Given the description of an element on the screen output the (x, y) to click on. 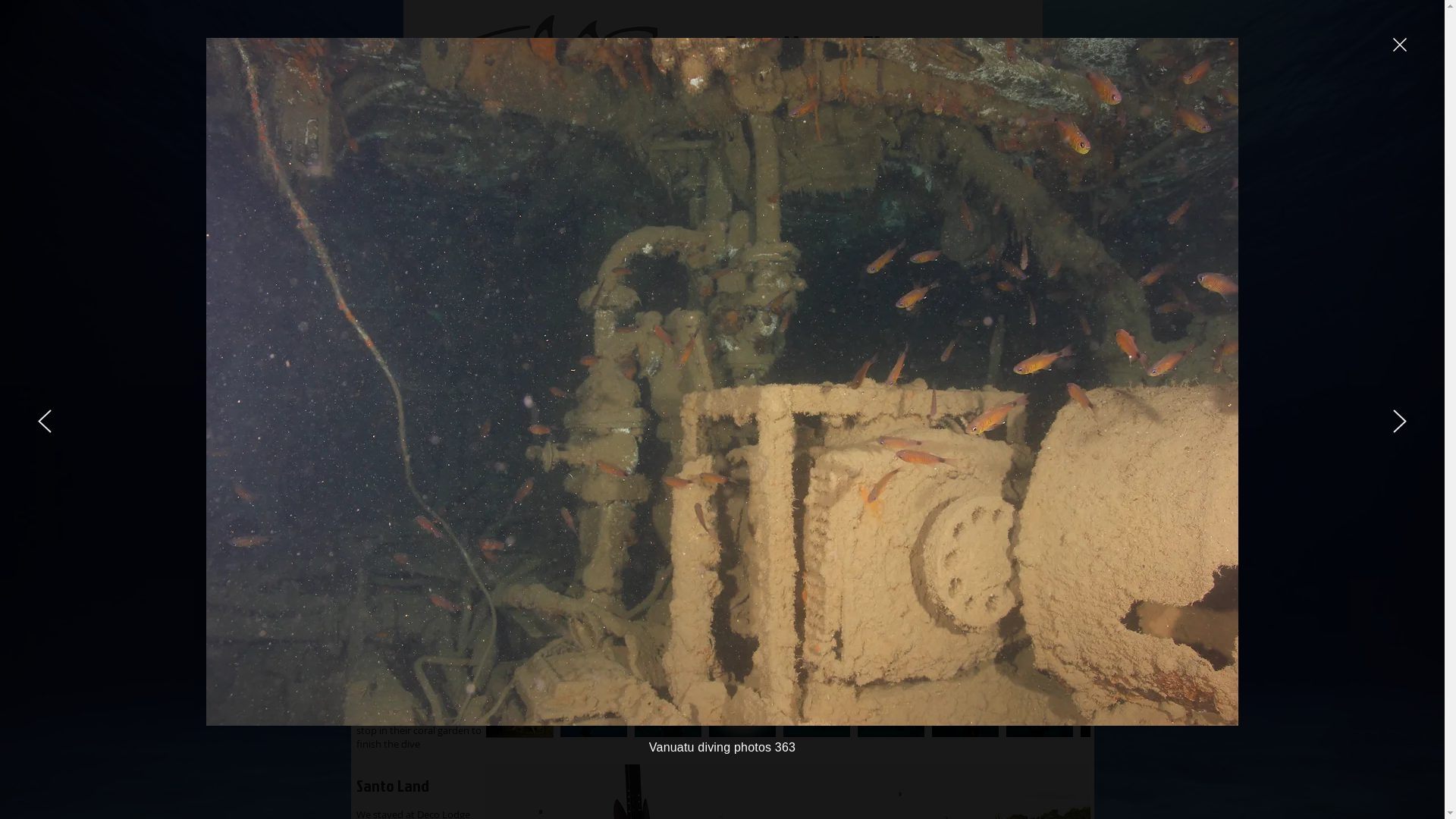
Back to Trips Element type: text (1019, 325)
Learn to Dive Element type: text (720, 104)
Dive Schedule & Booking Element type: text (571, 242)
Home Element type: text (422, 242)
Courses Element type: text (720, 242)
Contact Element type: text (868, 242)
